Given the description of an element on the screen output the (x, y) to click on. 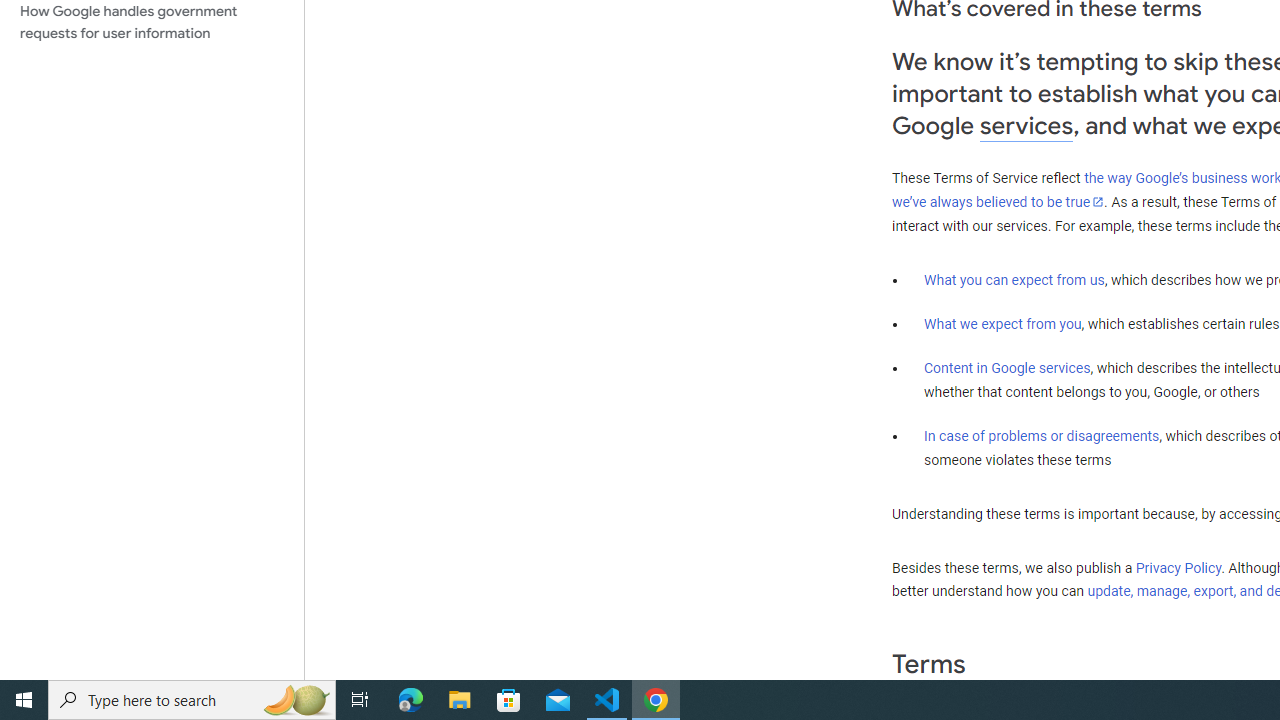
What you can expect from us (1014, 279)
What we expect from you (1002, 323)
services (1026, 125)
